Given the description of an element on the screen output the (x, y) to click on. 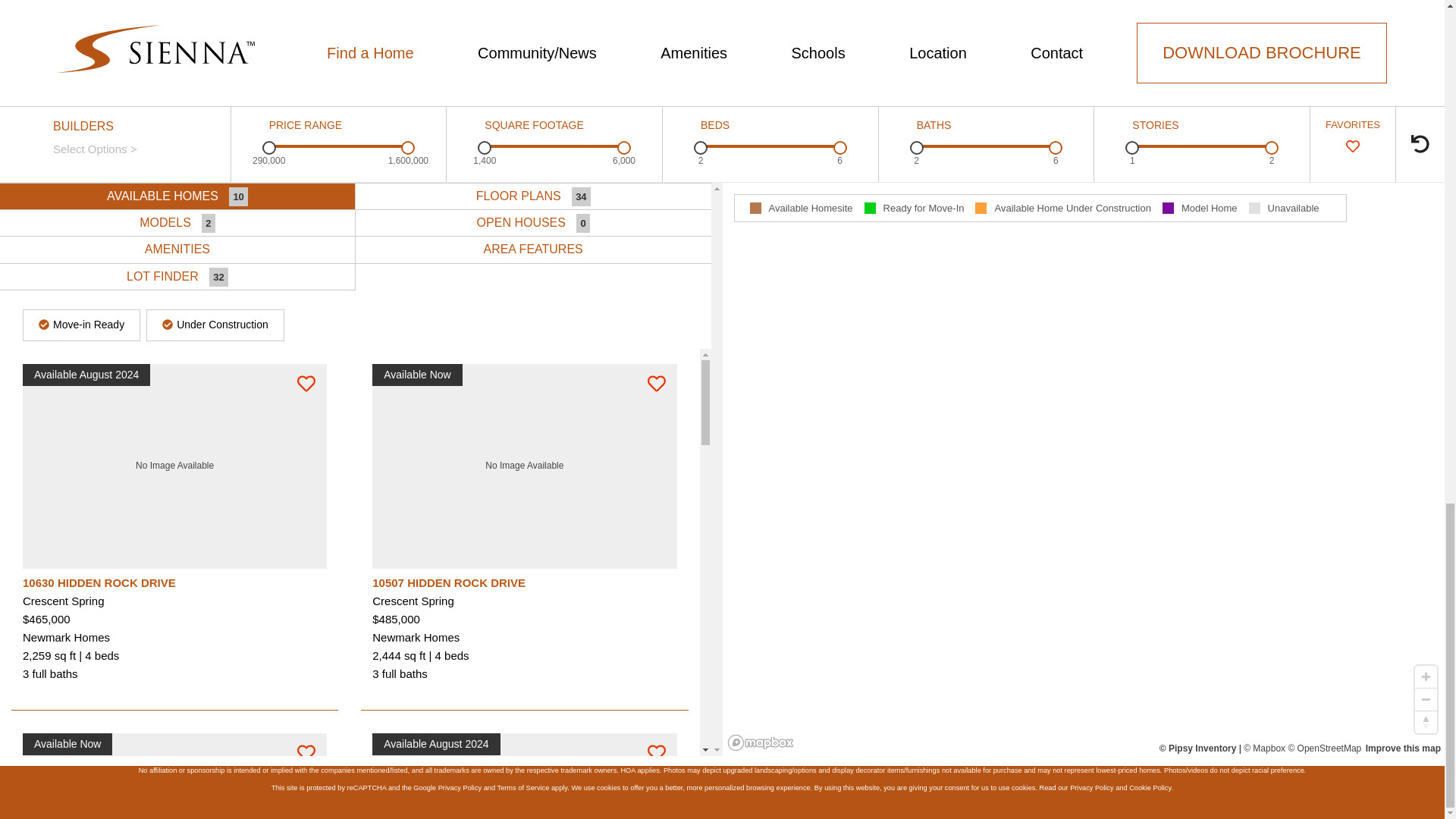
Sienna HOA Resident Intranet (1300, 588)
Sienna Plantation is now Sienna. (722, 695)
Search (1064, 266)
Subscribe (1062, 438)
Shop Sienna (1109, 588)
